Given the description of an element on the screen output the (x, y) to click on. 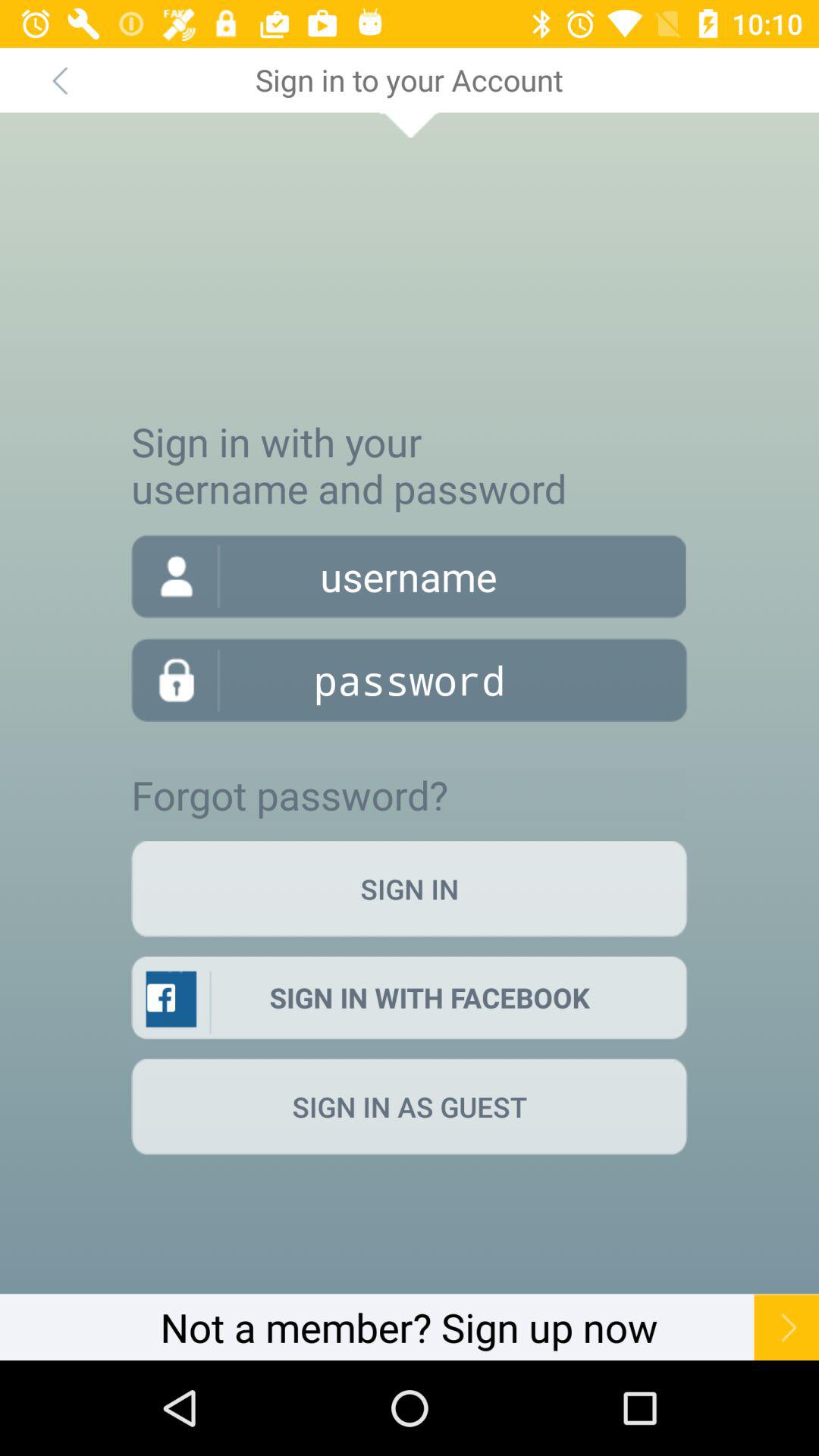
launch item next to the sign in to (59, 79)
